Given the description of an element on the screen output the (x, y) to click on. 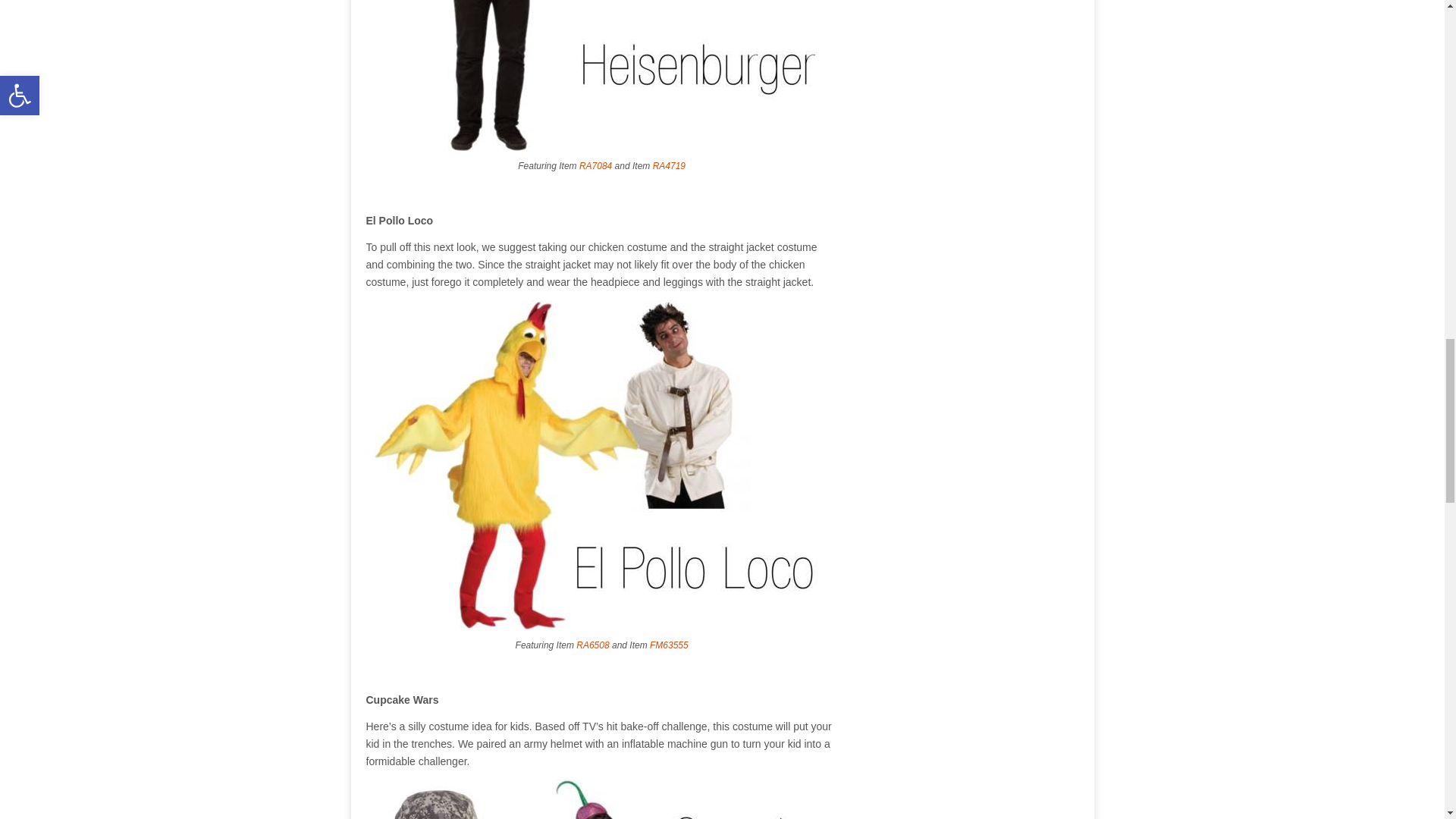
RA6508 (592, 644)
RA7084 (595, 165)
FM63555 (668, 644)
RA4719 (668, 165)
